Given the description of an element on the screen output the (x, y) to click on. 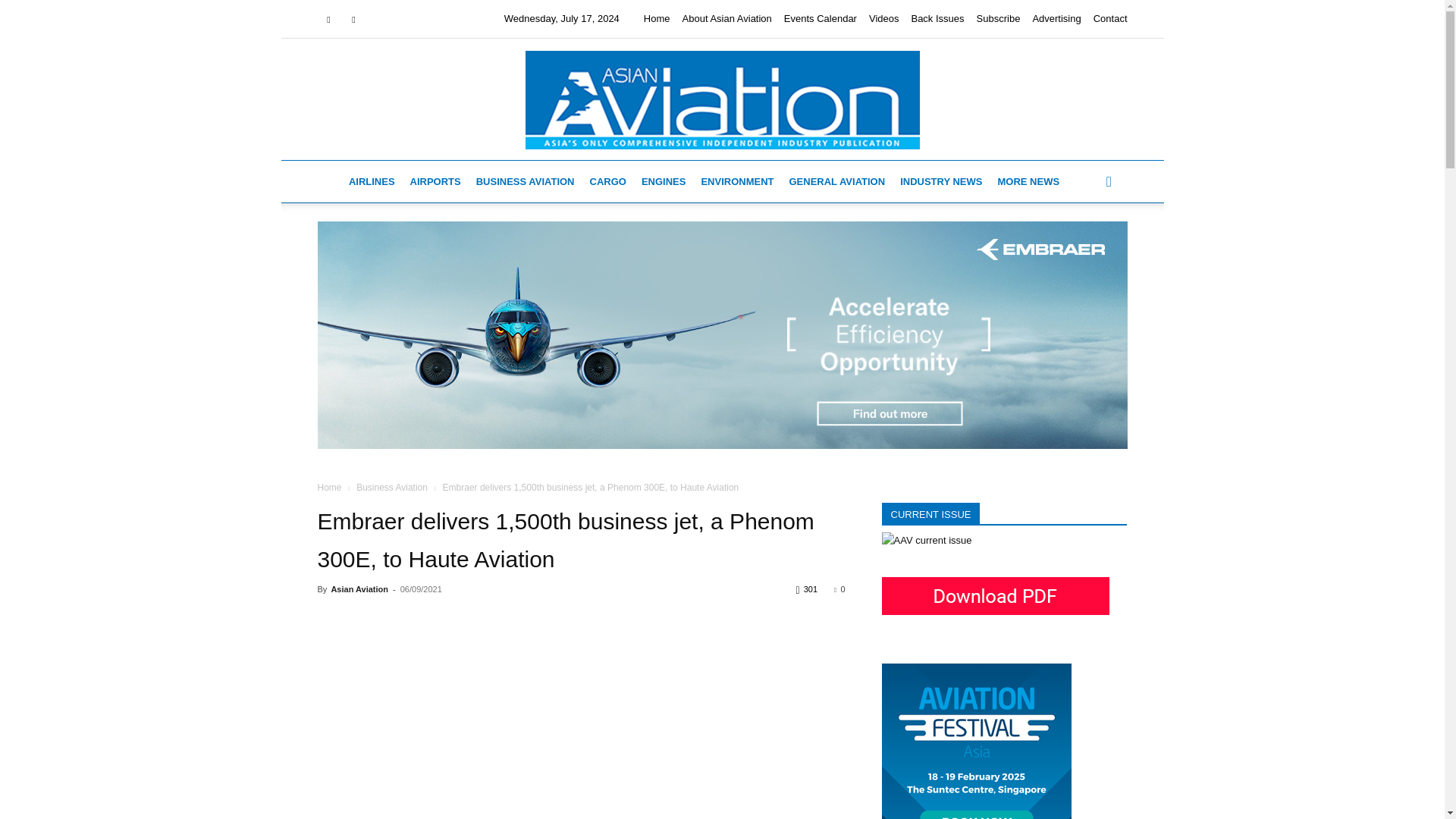
Videos (884, 18)
Back Issues (937, 18)
Linkedin (353, 18)
Home (656, 18)
Twitter (379, 18)
About Asian Aviation (726, 18)
ASIAN AVIATION (721, 99)
Contact (1109, 18)
Advertising (1056, 18)
Events Calendar (820, 18)
Subscribe (998, 18)
View all posts in Business Aviation (392, 487)
Facebook (328, 18)
